Given the description of an element on the screen output the (x, y) to click on. 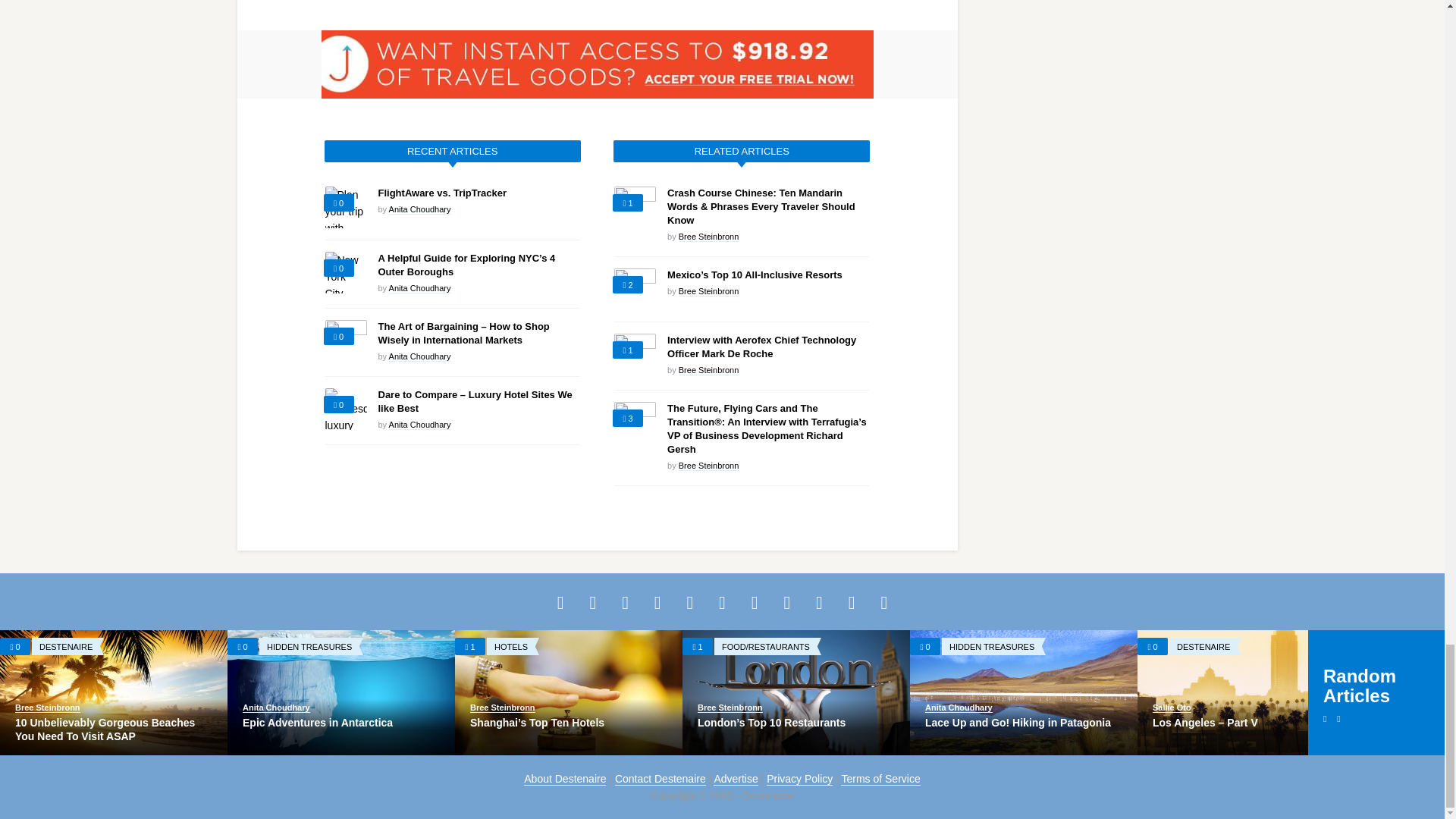
Posts by Bree Steinbronn (708, 465)
Anita Choudhary (419, 209)
Posts by Anita Choudhary (419, 288)
Posts by Bree Steinbronn (708, 291)
Posts by Anita Choudhary (419, 209)
0 (338, 267)
0 (338, 203)
Posts by Anita Choudhary (419, 356)
FlightAware vs. TripTracker (441, 193)
Posts by Bree Steinbronn (708, 370)
